Given the description of an element on the screen output the (x, y) to click on. 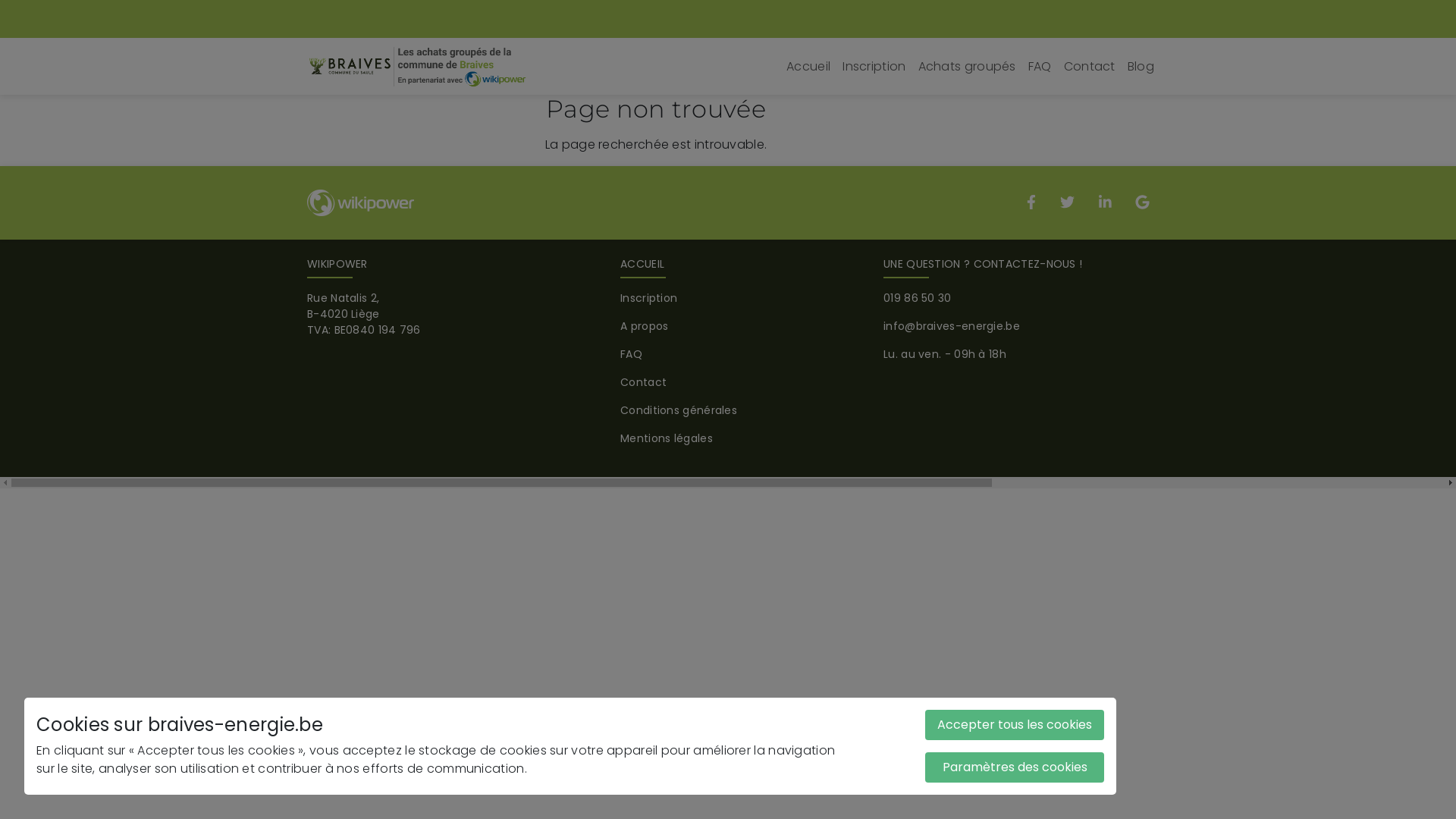
info@braives-energie.be Element type: text (951, 325)
Contact Element type: text (1089, 66)
Blog Element type: text (1140, 66)
ACCUEIL Element type: text (642, 263)
FAQ Element type: text (631, 353)
Accueil Element type: text (808, 66)
A propos Element type: text (644, 325)
019 86 50 30 Element type: text (917, 297)
Accepter tous les cookies Element type: text (1014, 724)
Inscription Element type: text (648, 297)
Contact Element type: text (643, 381)
FAQ Element type: text (1039, 66)
Inscription Element type: text (873, 66)
